Given the description of an element on the screen output the (x, y) to click on. 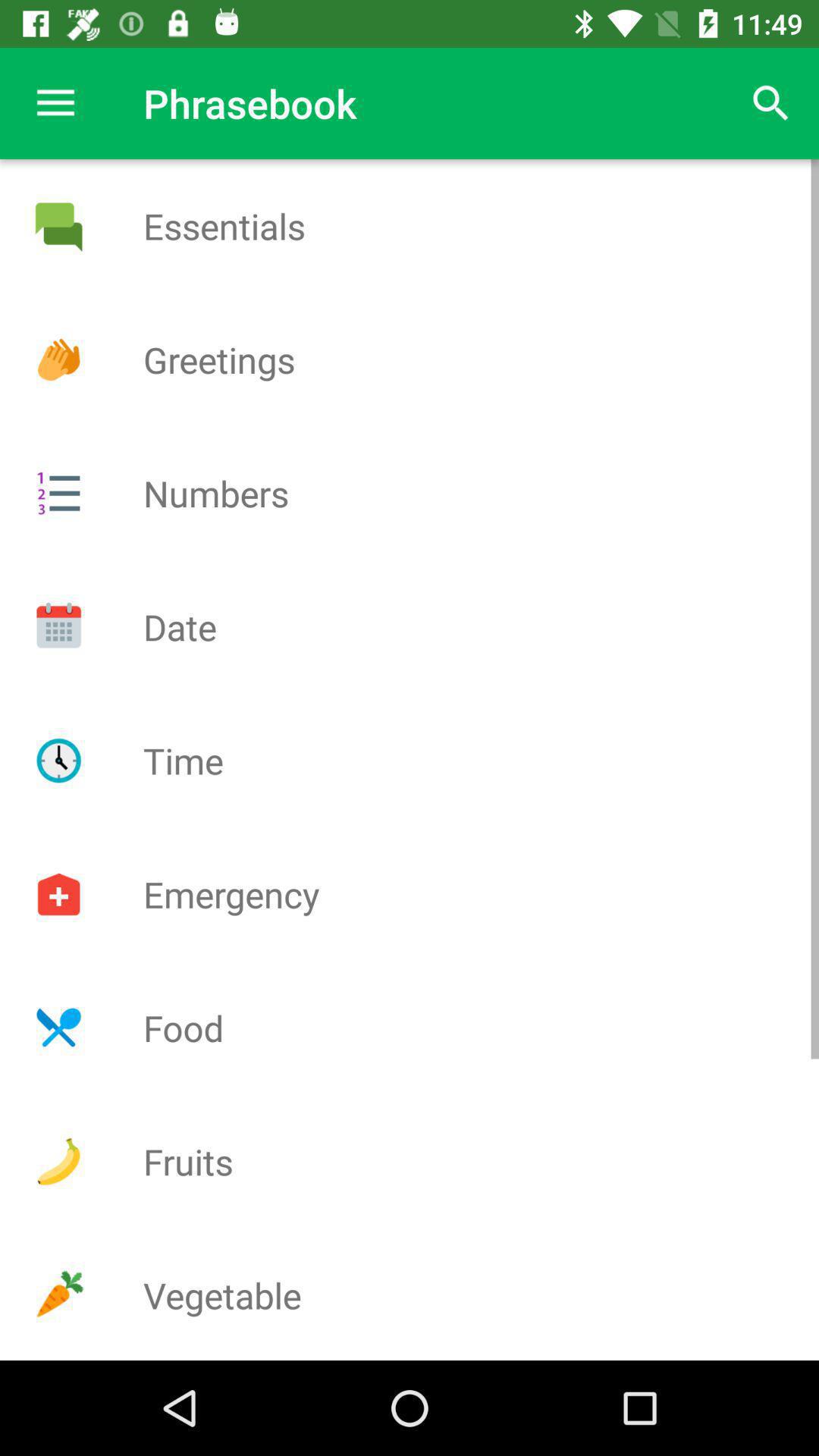
view vegetable phrases (58, 1295)
